Given the description of an element on the screen output the (x, y) to click on. 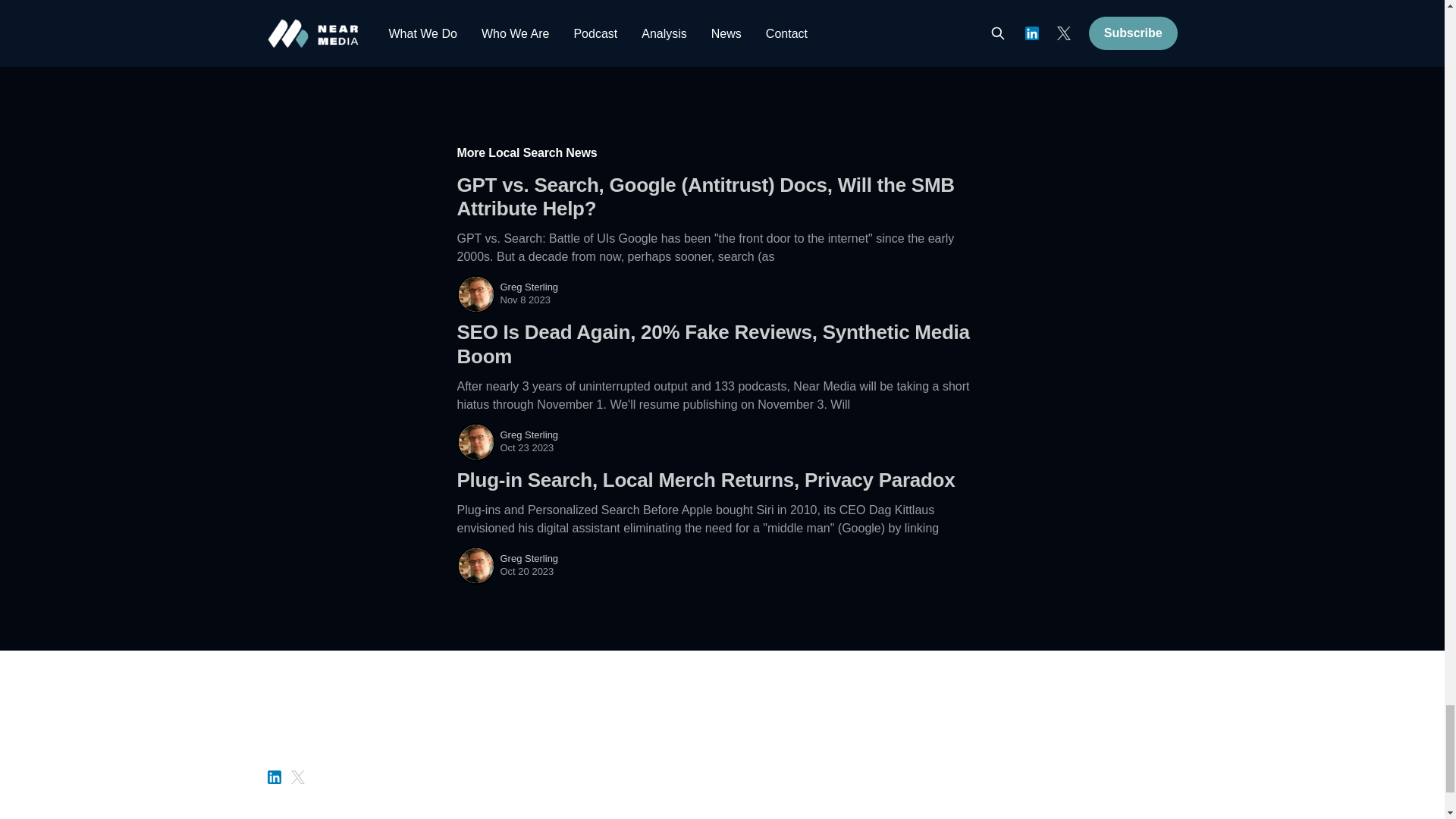
Near Media on Twitter (297, 774)
